Given the description of an element on the screen output the (x, y) to click on. 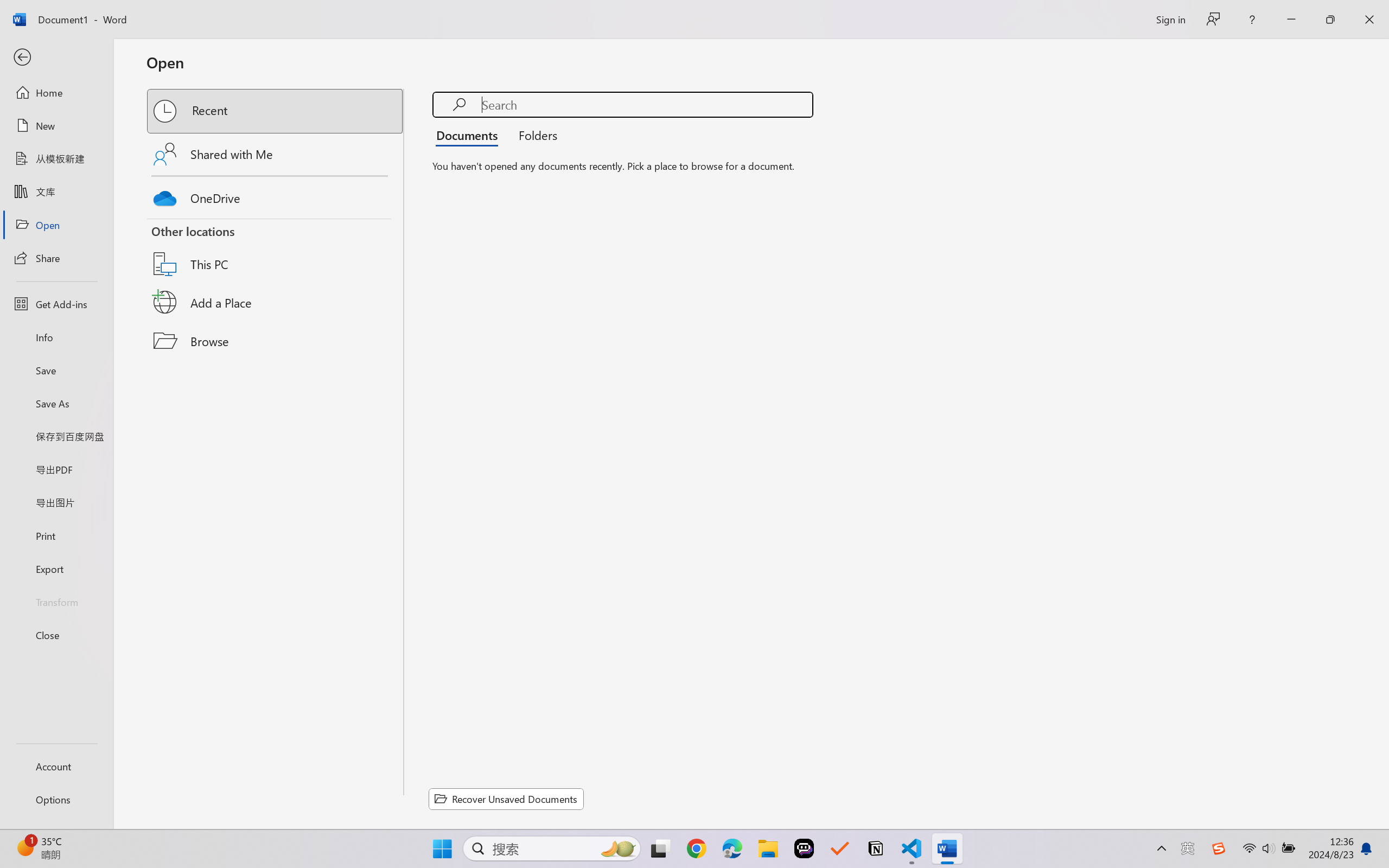
Shared with Me (275, 153)
Get Add-ins (56, 303)
Account (56, 765)
Folders (534, 134)
Options (56, 798)
